Given the description of an element on the screen output the (x, y) to click on. 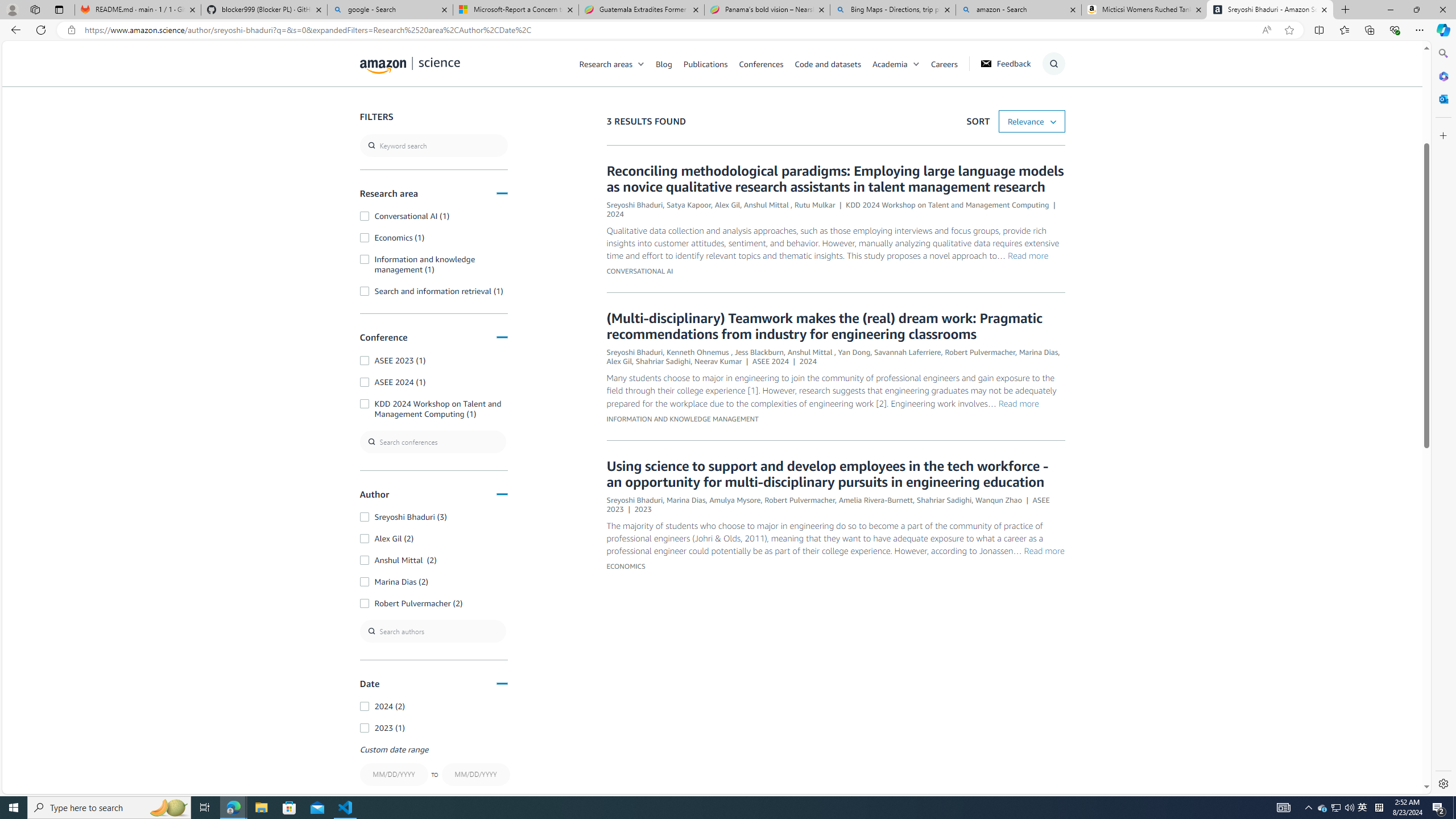
Blog (663, 63)
Satya Kapoor (688, 204)
Code and datasets (827, 63)
Academia (901, 63)
